Given the description of an element on the screen output the (x, y) to click on. 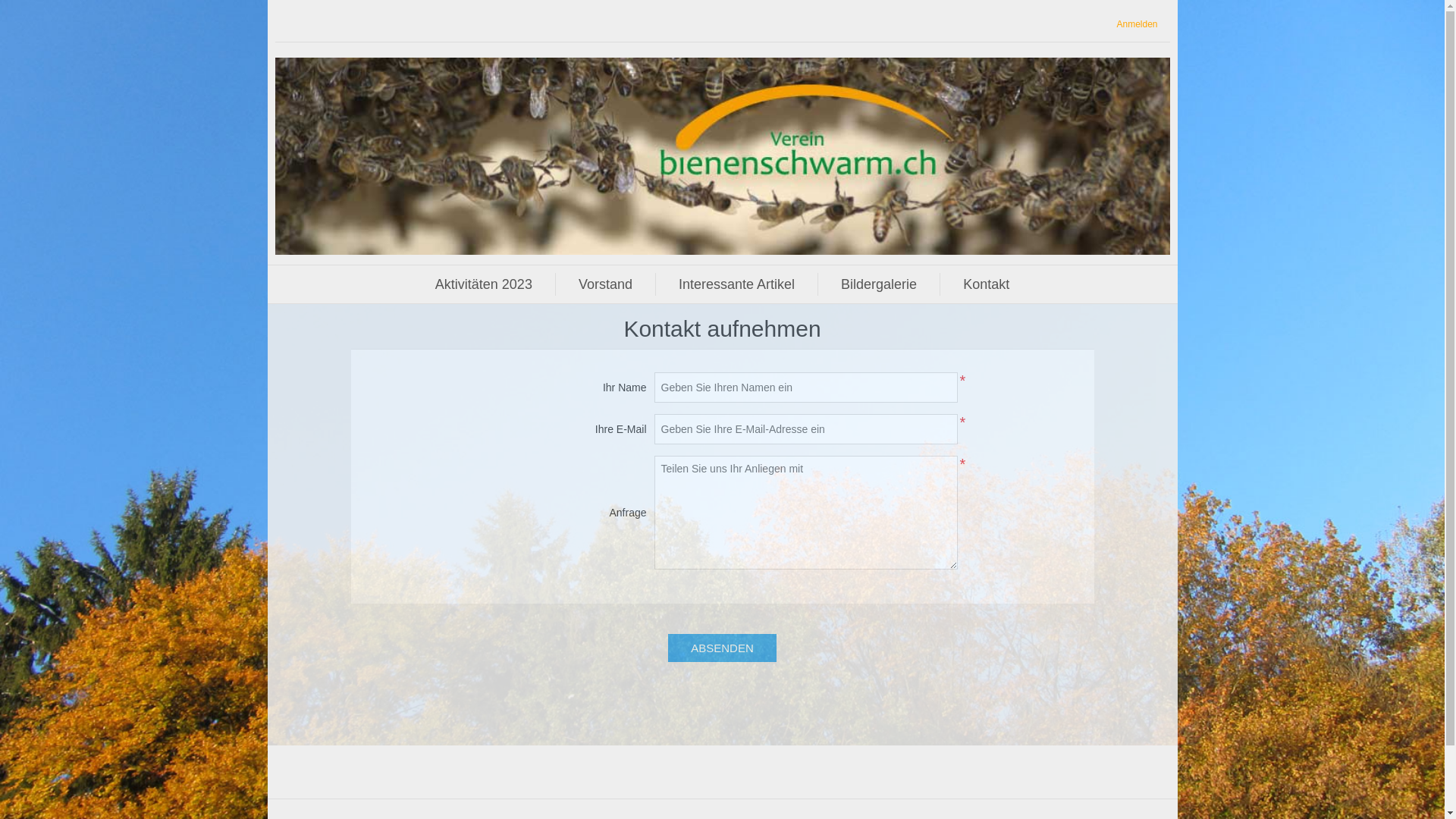
Absenden Element type: text (722, 647)
Vorstand Element type: text (605, 284)
Kontakt Element type: text (985, 284)
Bildergalerie Element type: text (878, 284)
Interessante Artikel Element type: text (736, 284)
Anmelden Element type: text (1136, 24)
